Given the description of an element on the screen output the (x, y) to click on. 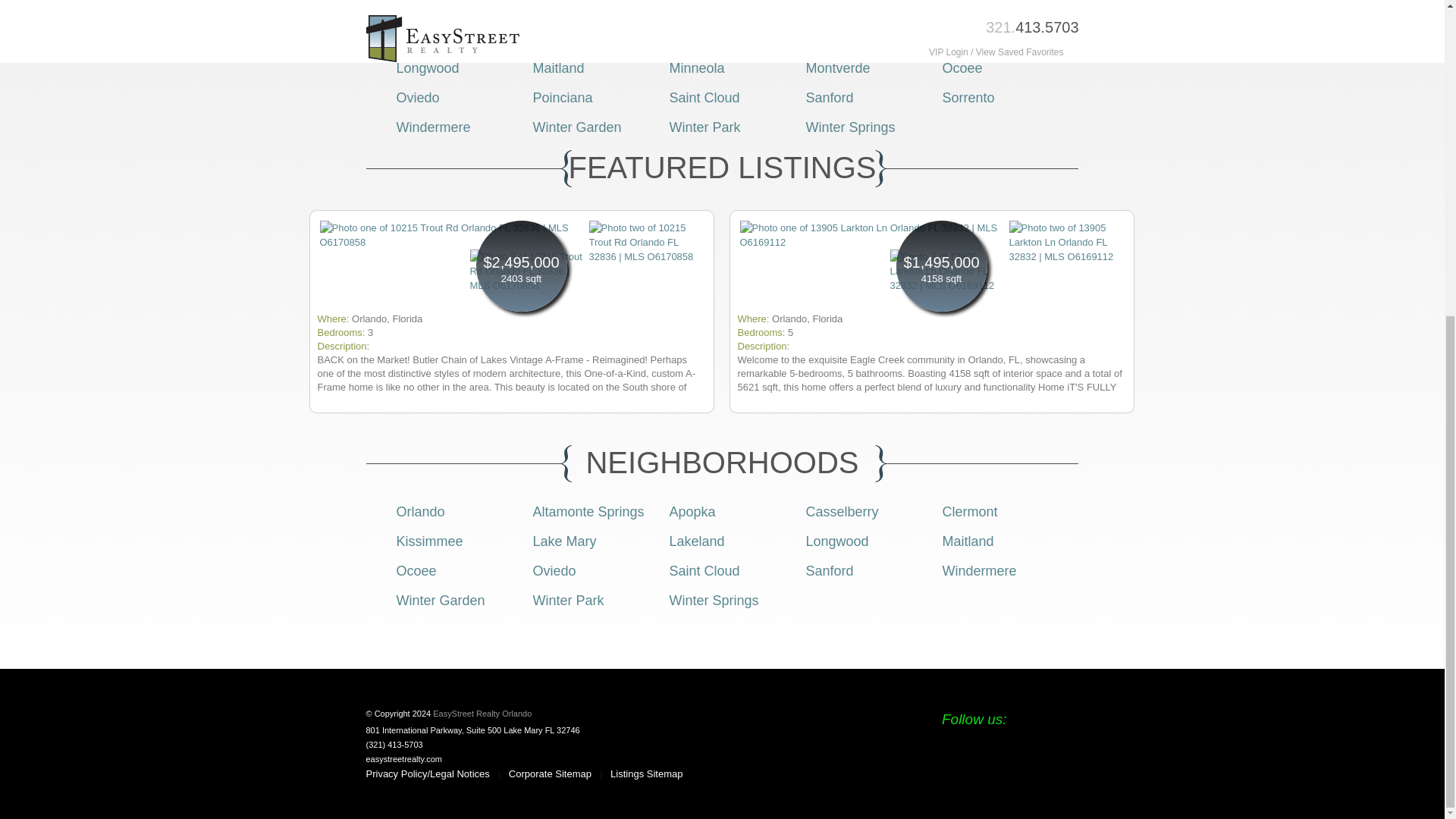
Lake Mary (837, 38)
Lakeland (969, 38)
Apopka (691, 8)
Winter Garden (576, 127)
View Kissimmee, FL homes for sale. (701, 38)
View Longwood, FL homes for sale. (427, 68)
Sorrento (968, 97)
Winter Park (703, 127)
Montverde (837, 68)
Apopka (691, 511)
View Orlando, FL homes for sale. (420, 8)
Poinciana (562, 97)
View Clermont, FL homes for sale. (423, 38)
Casselberry (841, 511)
View Altamonte Springs, FL homes for sale. (587, 8)
